Given the description of an element on the screen output the (x, y) to click on. 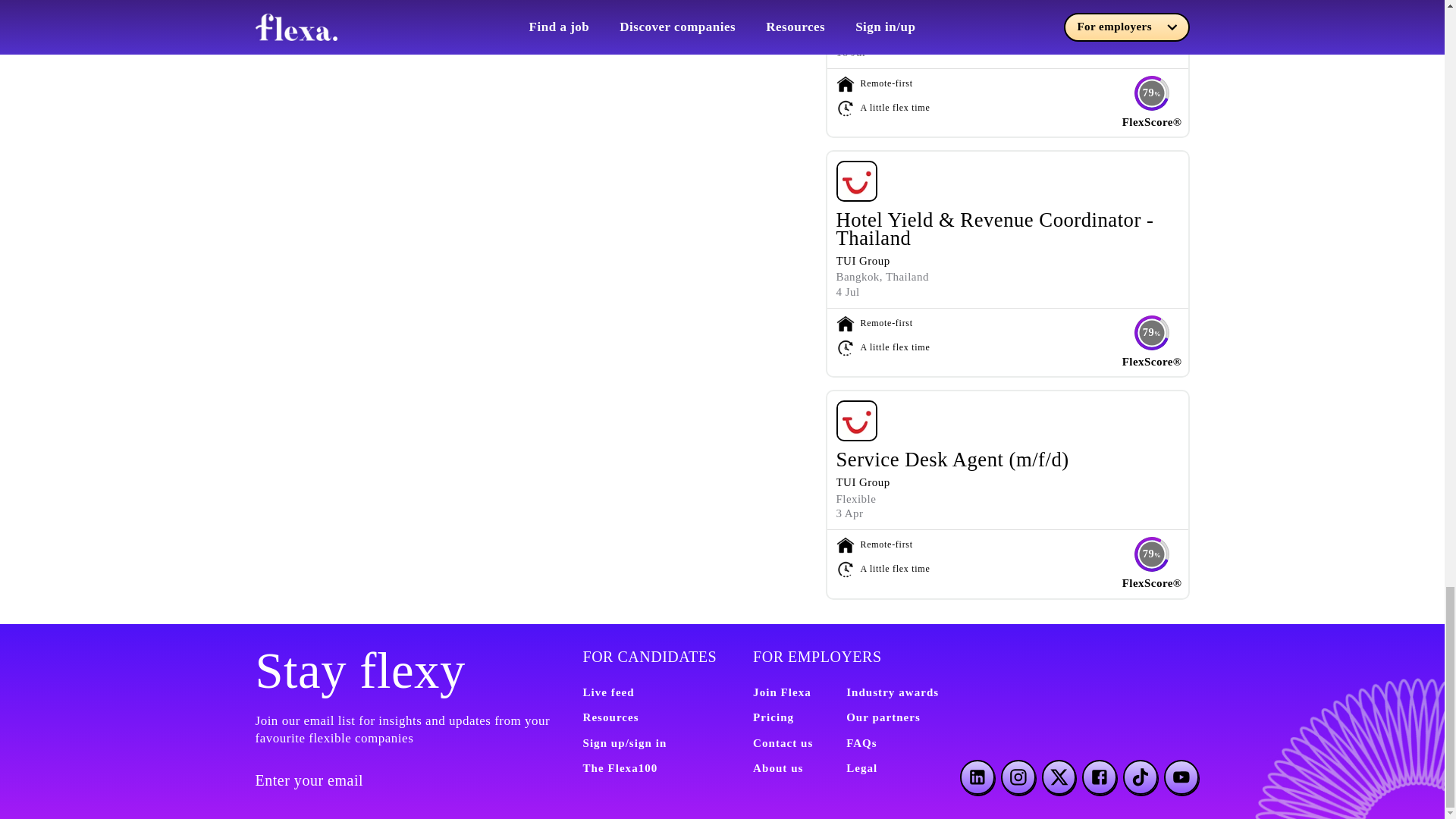
Industry awards (892, 692)
Join Flexa (781, 692)
TUI Group (862, 21)
Resources (610, 717)
Our partners (882, 717)
FAQs (861, 743)
TUI Group (862, 260)
Pricing (772, 717)
About us (777, 767)
The Flexa100 (620, 767)
